Given the description of an element on the screen output the (x, y) to click on. 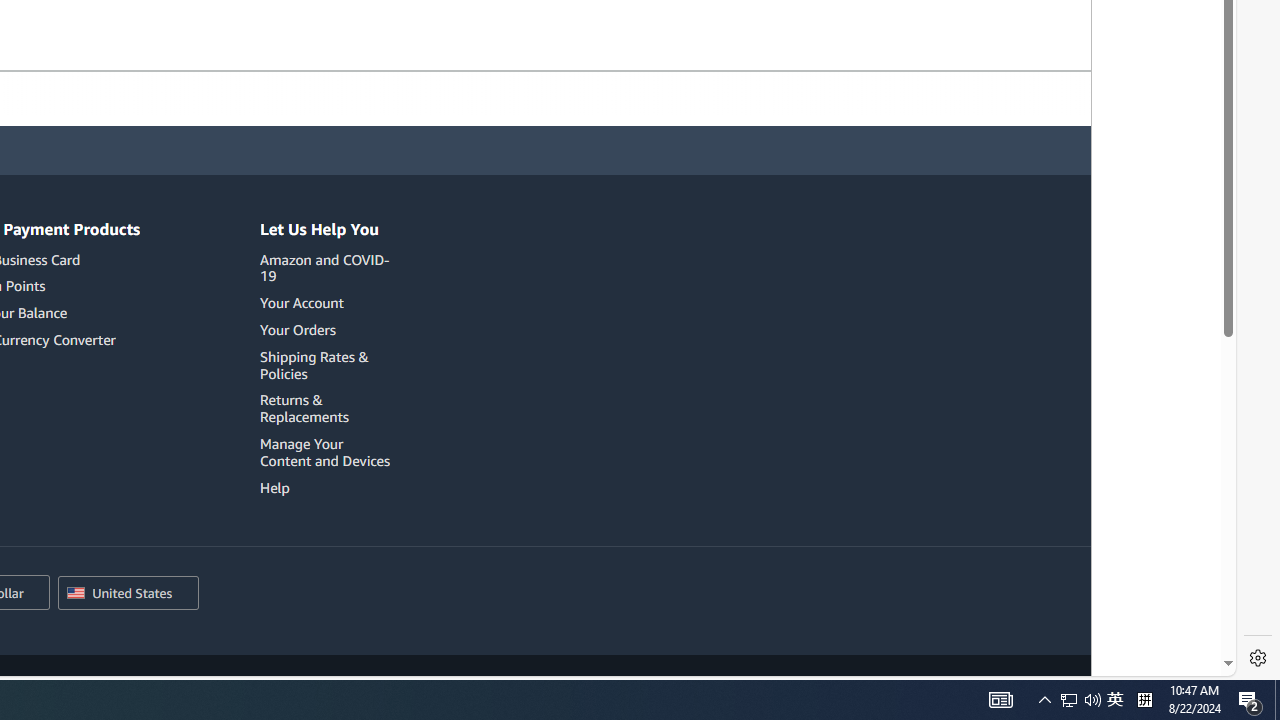
Shipping Rates & Policies (313, 365)
Help (328, 487)
Your Orders (328, 330)
Your Account (328, 303)
Your Orders (297, 329)
Returns & Replacements (328, 408)
Manage Your Content and Devices (324, 452)
Choose a country/region for shopping. (127, 593)
Amazon and COVID-19 (328, 268)
Your Account (301, 303)
Help (274, 487)
Shipping Rates & Policies (328, 365)
Manage Your Content and Devices (328, 452)
Amazon and COVID-19 (324, 267)
Settings (1258, 658)
